Given the description of an element on the screen output the (x, y) to click on. 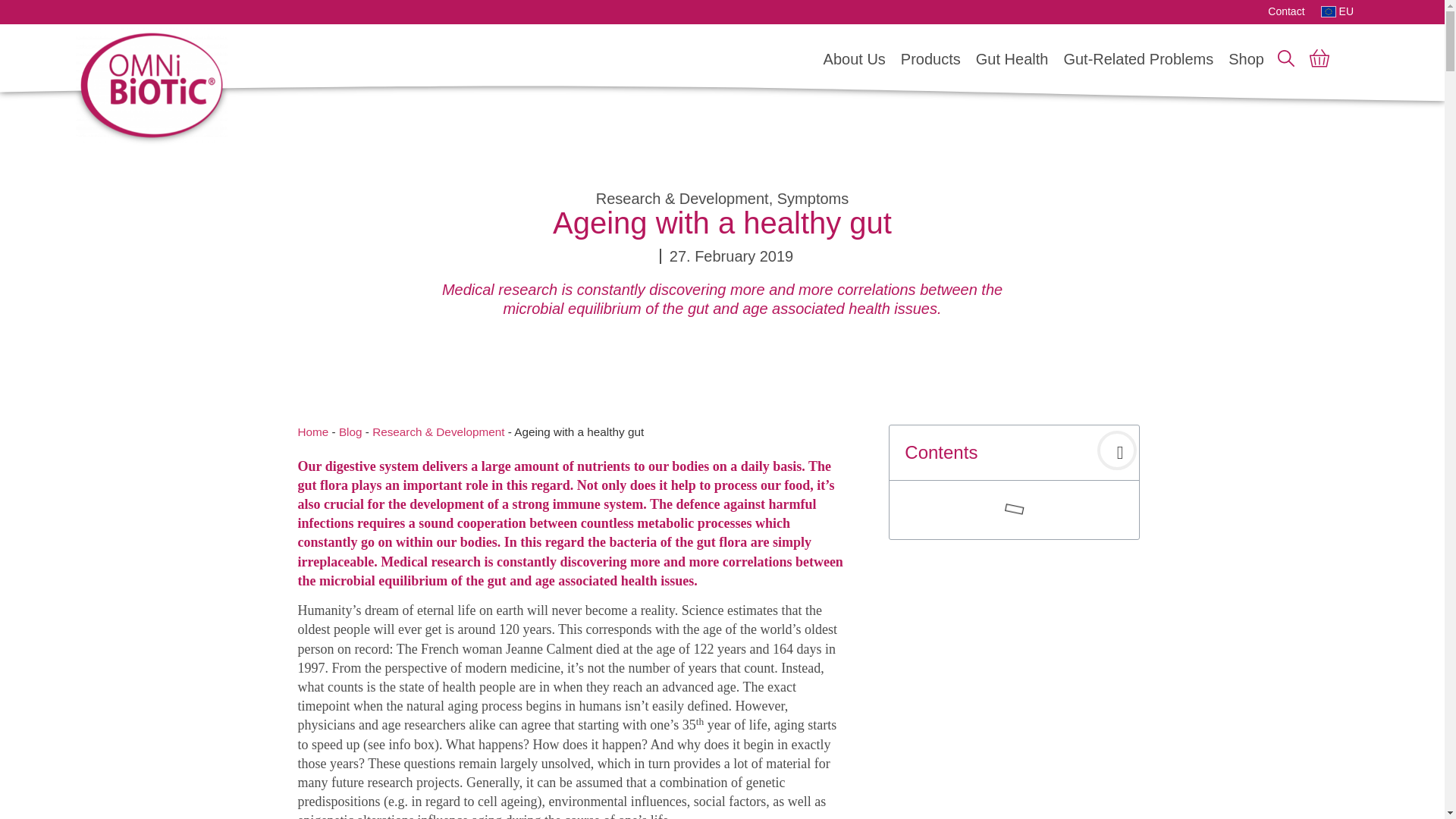
Contact (1285, 11)
Gut-Related Problems (1138, 58)
Gut Health (1012, 58)
About Us (854, 58)
Products (930, 58)
